Given the description of an element on the screen output the (x, y) to click on. 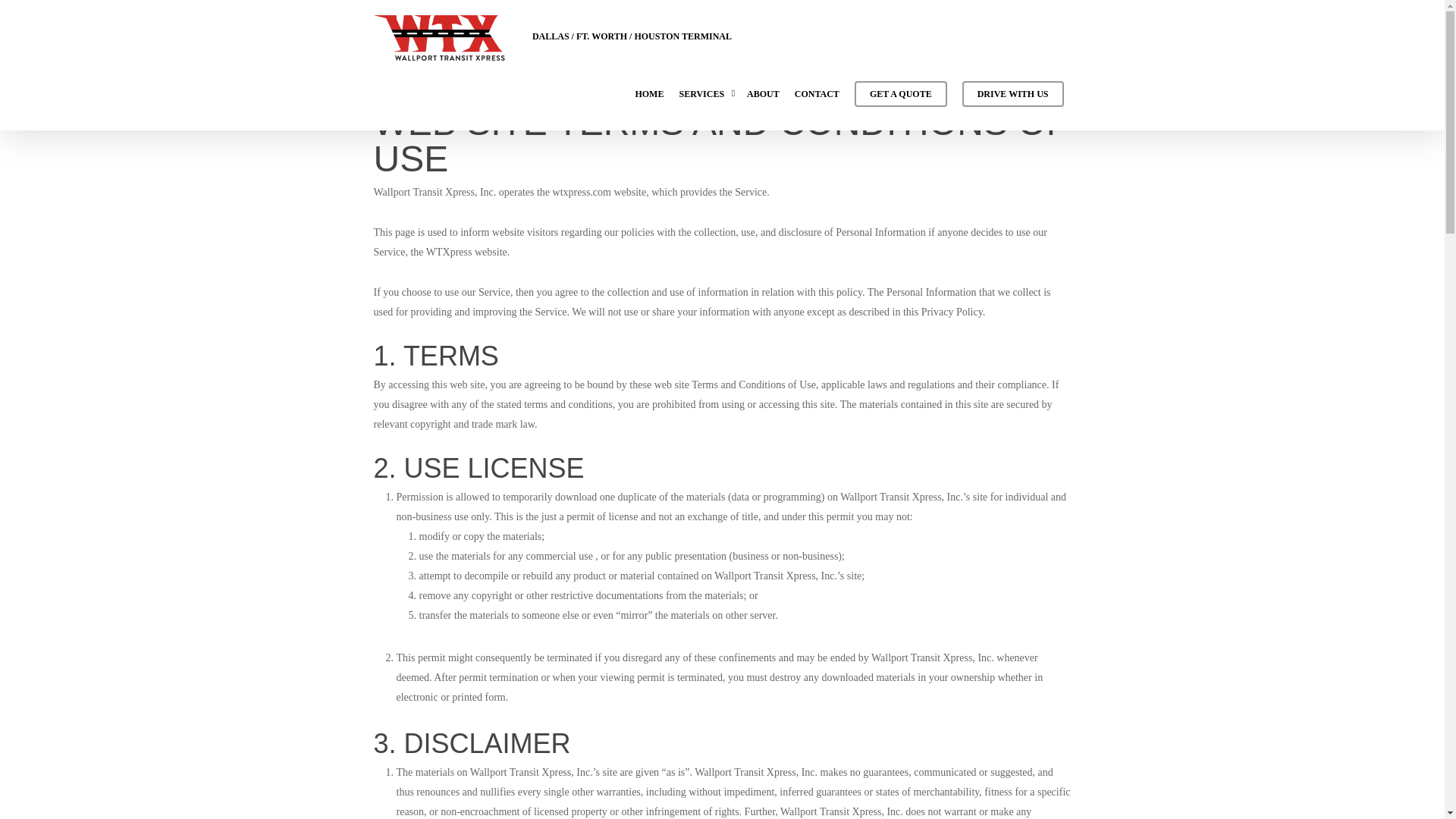
CONTACT (817, 101)
GET A QUOTE (900, 101)
SERVICES (705, 101)
DRIVE WITH US (1013, 101)
